Given the description of an element on the screen output the (x, y) to click on. 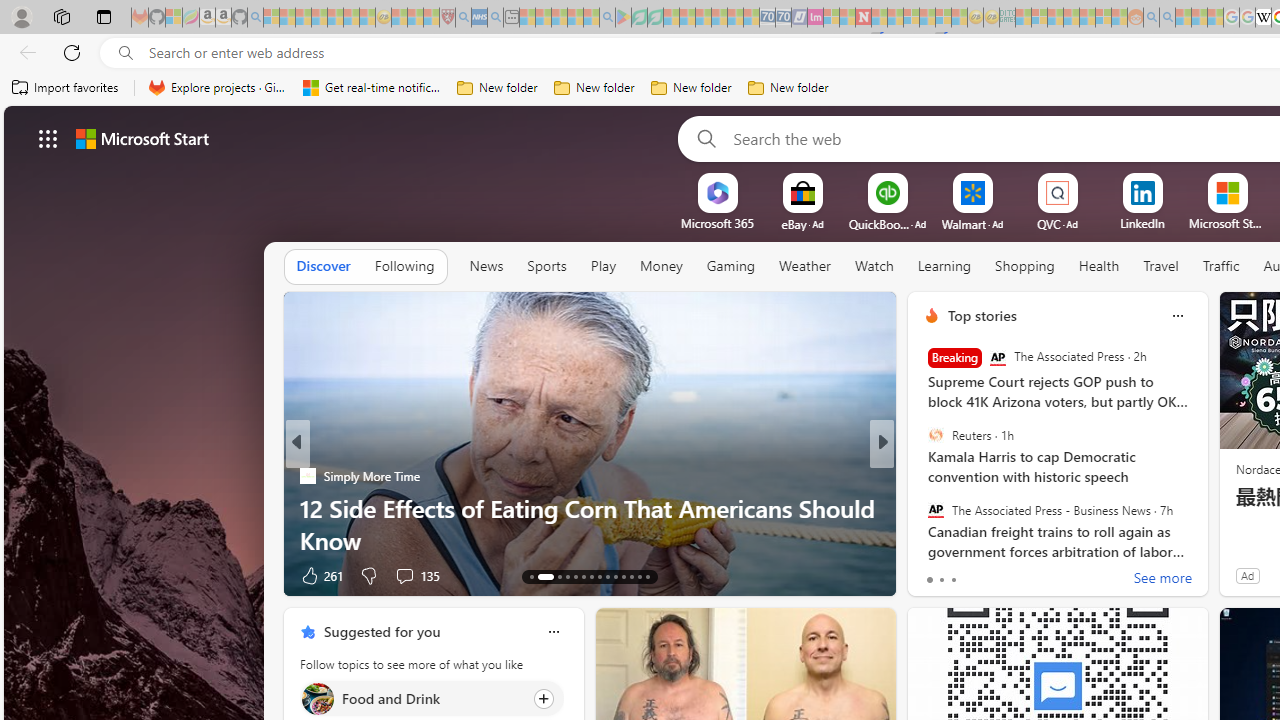
Reuters (935, 435)
View comments 308 Comment (409, 574)
Expert Portfolios - Sleeping (1071, 17)
2k Like (933, 574)
AutomationID: tab-19 (591, 576)
View comments 13 Comment (1019, 575)
Cheap Car Rentals - Save70.com - Sleeping (767, 17)
INSIDER (923, 475)
Following (404, 267)
ZDNet (923, 475)
Learning (944, 267)
Play (603, 267)
Discover (323, 267)
